Given the description of an element on the screen output the (x, y) to click on. 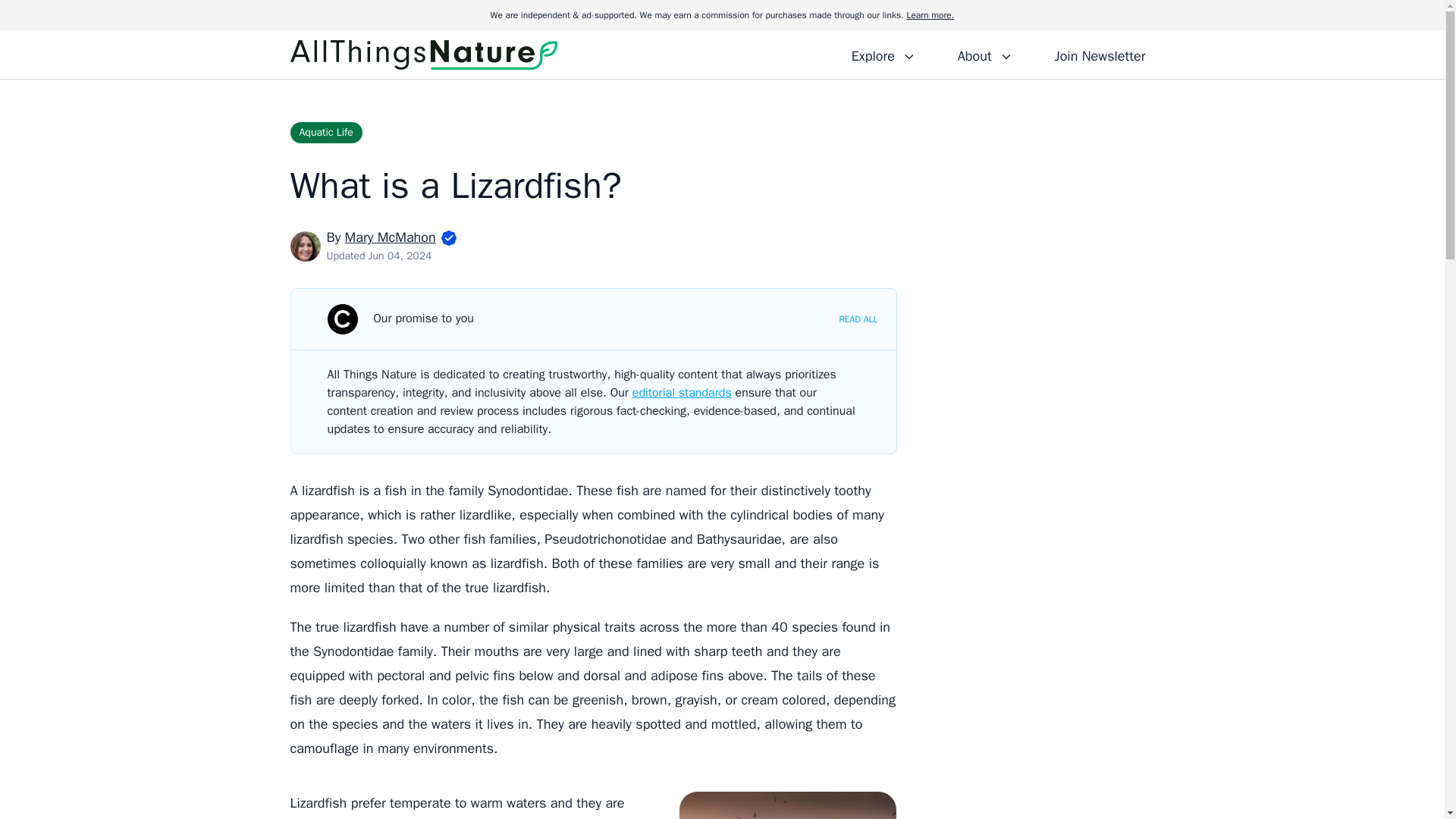
About (984, 54)
Join Newsletter (1099, 54)
Learn more. (929, 15)
READ ALL (857, 318)
Explore (883, 54)
Mary McMahon (390, 237)
Aquatic Life (325, 132)
editorial standards (681, 393)
